Given the description of an element on the screen output the (x, y) to click on. 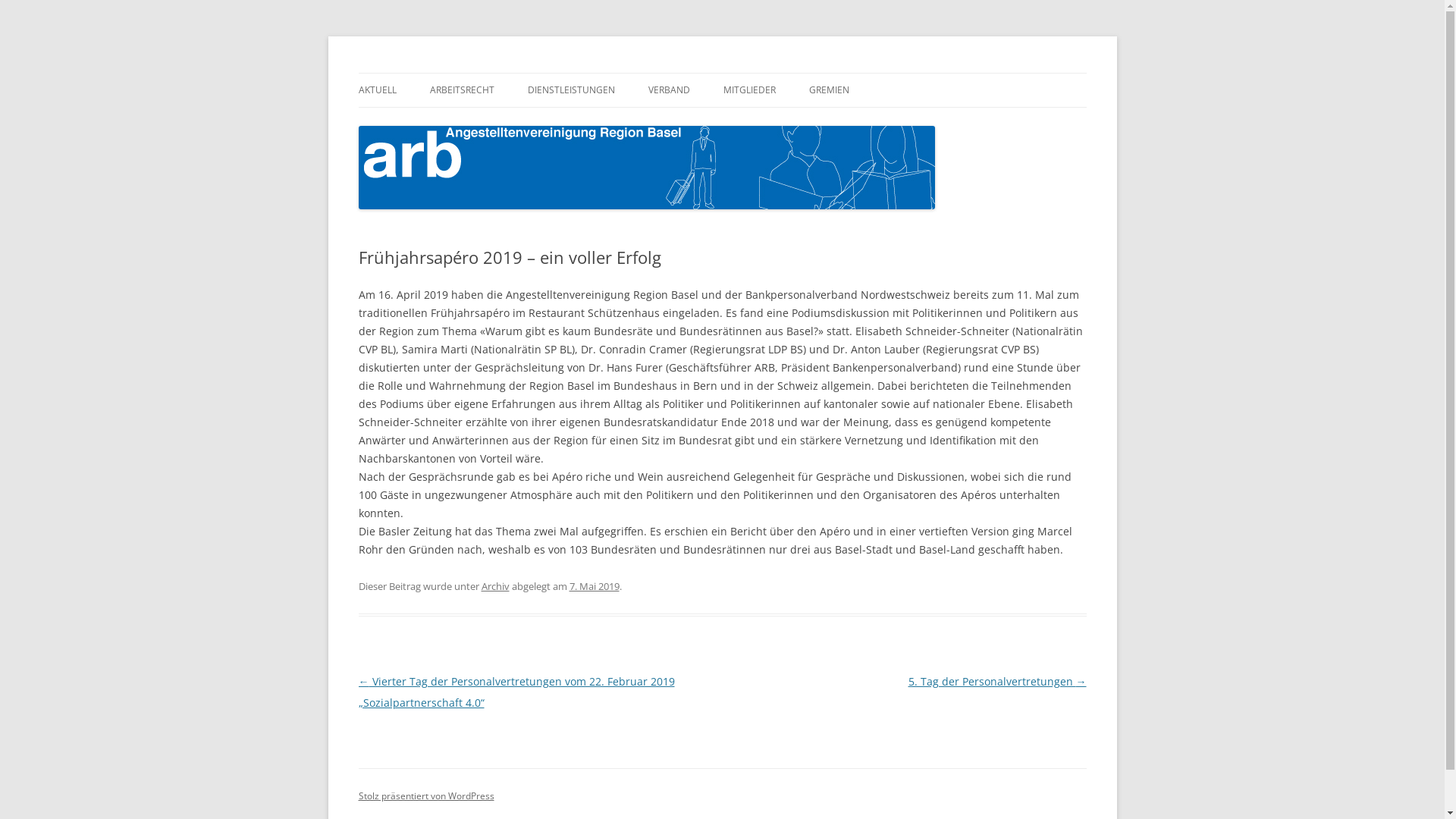
AKTUELL Element type: text (376, 89)
DIENSTLEISTUNGEN Element type: text (571, 89)
GREMIEN Element type: text (828, 89)
Archiv Element type: text (494, 586)
Springe zum Inhalt Element type: text (721, 72)
7. Mai 2019 Element type: text (593, 586)
ARBEITSRECHT Element type: text (461, 89)
VERBAND Element type: text (668, 89)
STAATLICHE GREMIEN Element type: text (884, 122)
MITGLIED WERDEN Element type: text (799, 122)
JAHRESBERICHTE Element type: text (723, 122)
LEHRSTELLEN ADVOKATUR Element type: text (603, 122)
GAV DIENSTLEISTUNGSBEREICH Element type: text (504, 122)
MITGLIEDER Element type: text (749, 89)
NEWS Element type: text (433, 122)
Angestelltenvereinigung Region Basel Element type: text (542, 72)
